Given the description of an element on the screen output the (x, y) to click on. 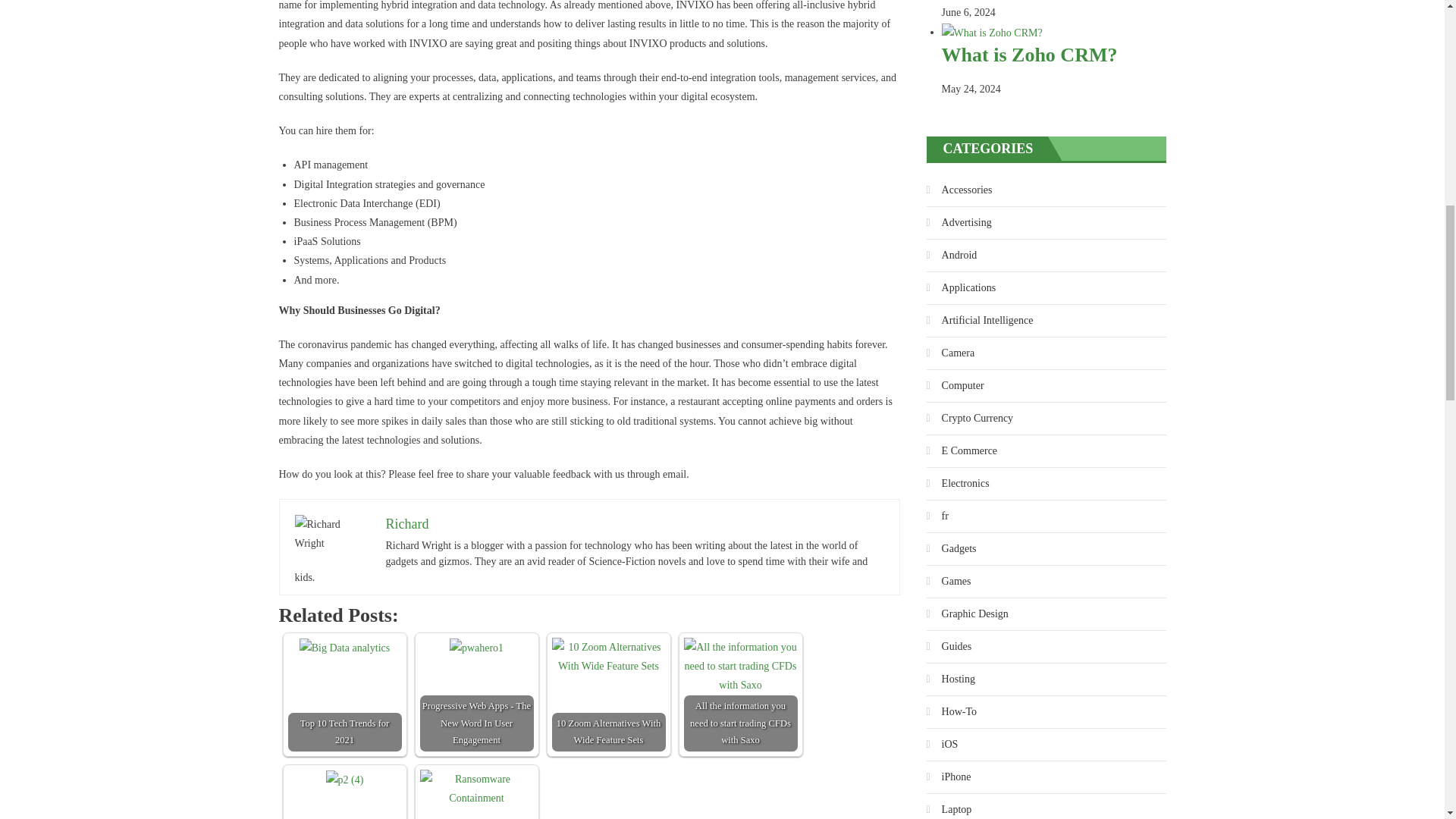
10 Zoom Alternatives With Wide Feature Sets (608, 656)
Progressive Web Apps - The New Word In User Engagement (476, 647)
Top 10 Tech Trends for 2021 (344, 647)
All the information you need to start trading CFDs with Saxo (740, 666)
Richard Wright (331, 533)
